Given the description of an element on the screen output the (x, y) to click on. 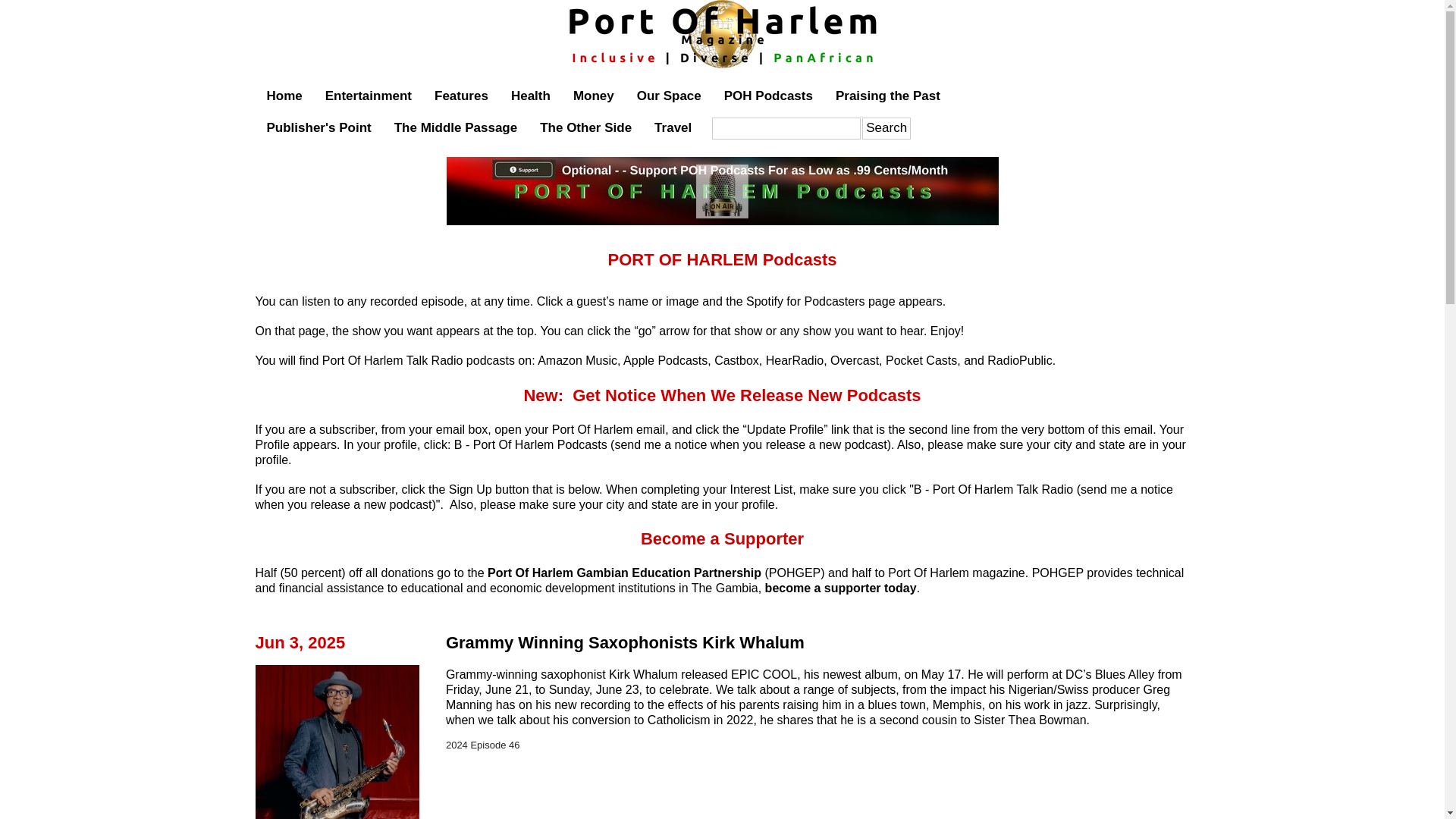
Publisher's Point (317, 128)
Grammy Winning Saxophonists Kirk Whalum (625, 642)
Health (530, 96)
The Other Side (585, 128)
Our Space (669, 96)
become a supporter today (841, 587)
Home (283, 96)
Features (461, 96)
Travel (673, 128)
Entertainment (368, 96)
